Given the description of an element on the screen output the (x, y) to click on. 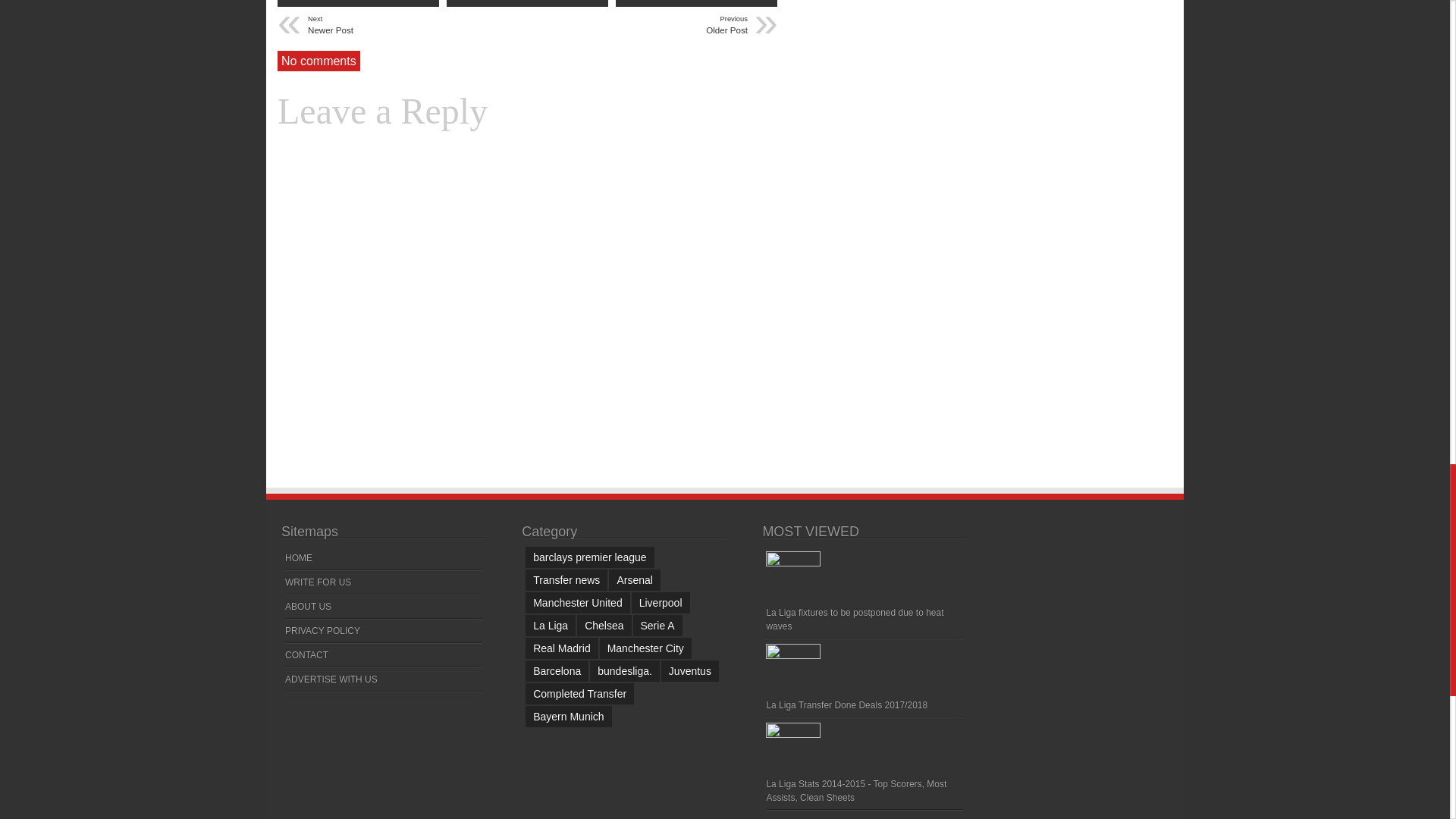
Newer Post (400, 25)
Older Post (655, 25)
